Given the description of an element on the screen output the (x, y) to click on. 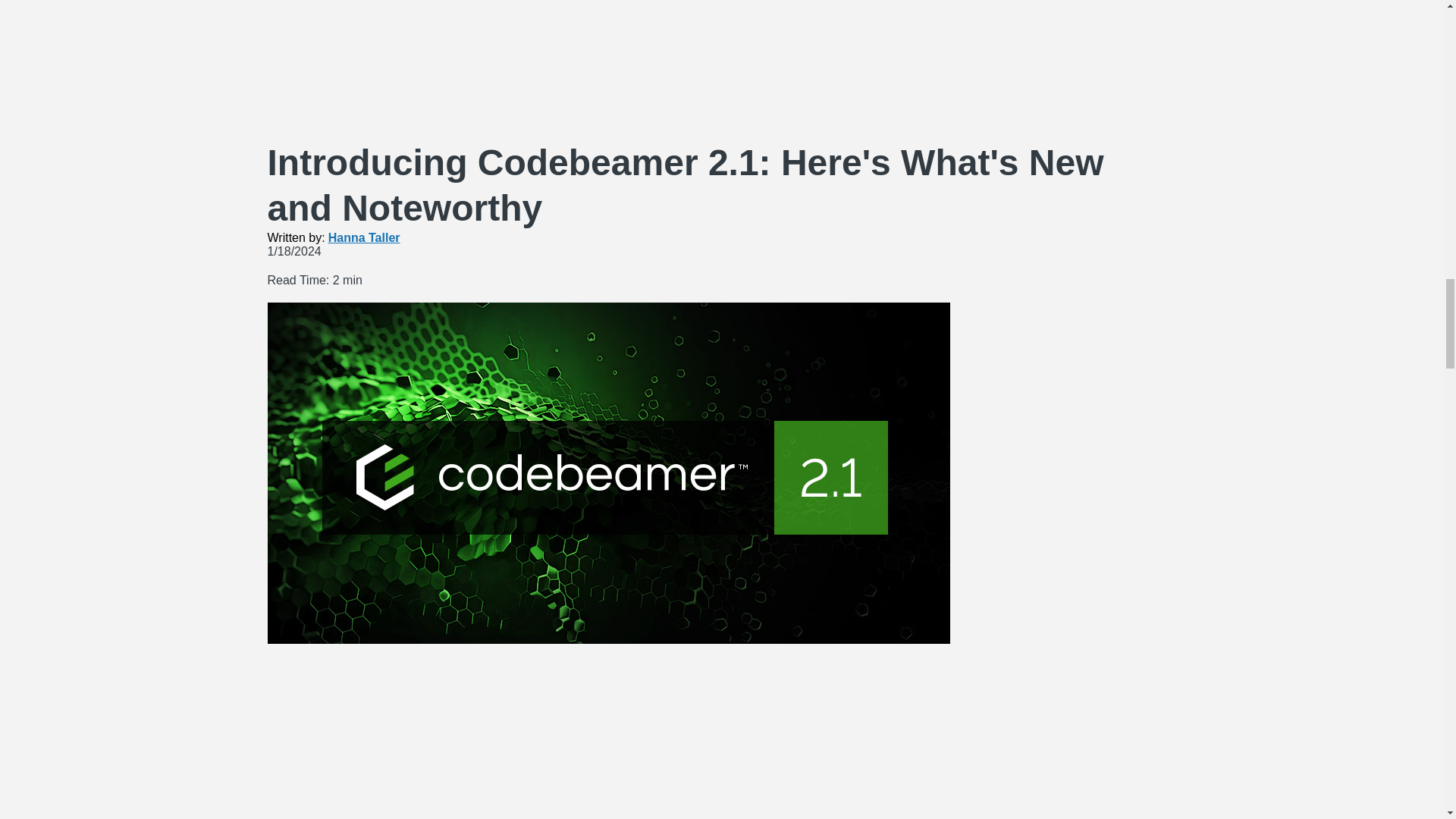
Hanna Taller (364, 237)
Twitter (706, 791)
Facebook (706, 705)
